Given the description of an element on the screen output the (x, y) to click on. 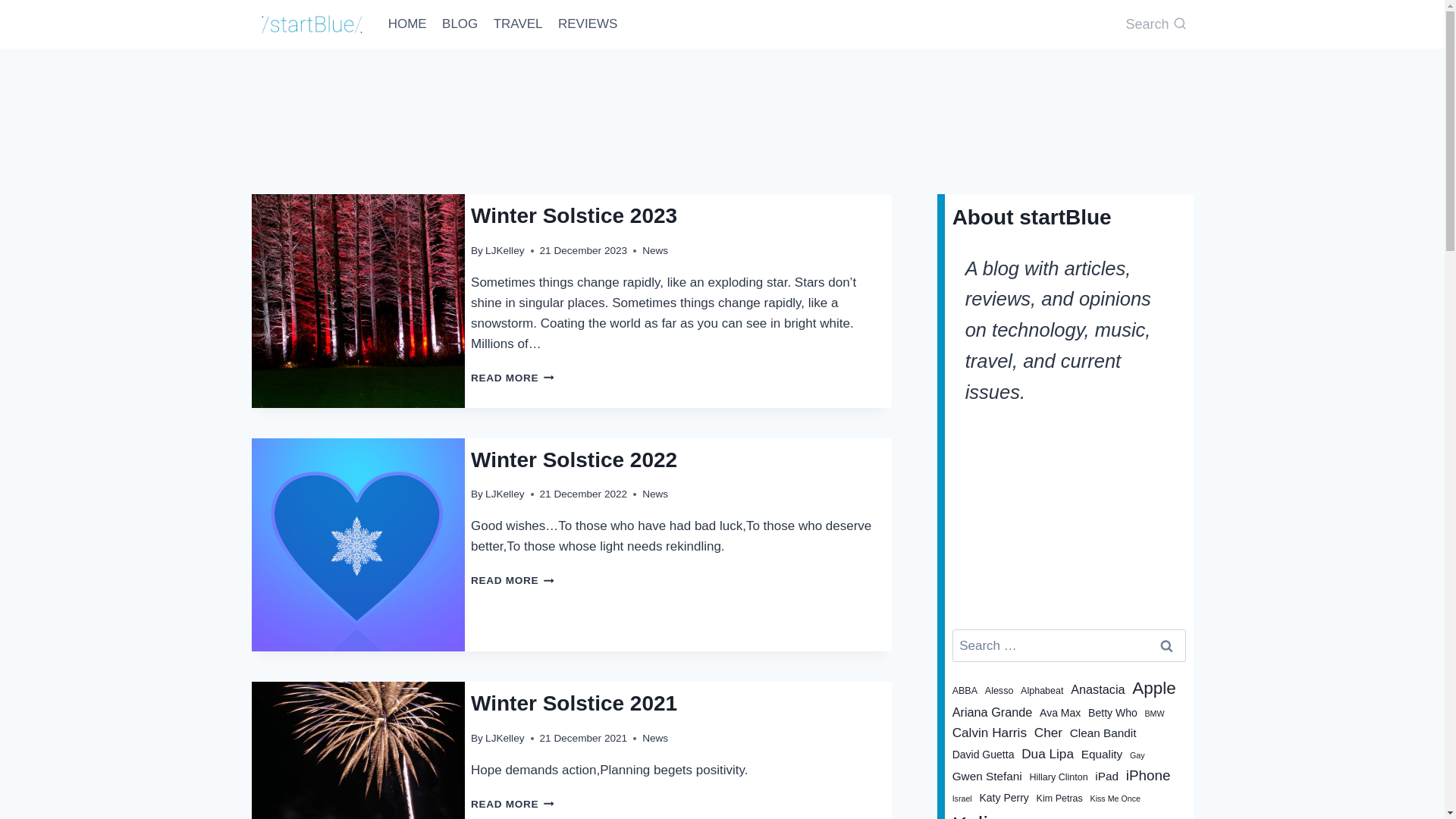
Advertisement (512, 803)
Winter Solstice 2022 (512, 580)
Search (712, 88)
News (573, 459)
Winter Solstice 2023 (1167, 645)
LJKelley (655, 493)
Search (573, 215)
REVIEWS (504, 250)
